Given the description of an element on the screen output the (x, y) to click on. 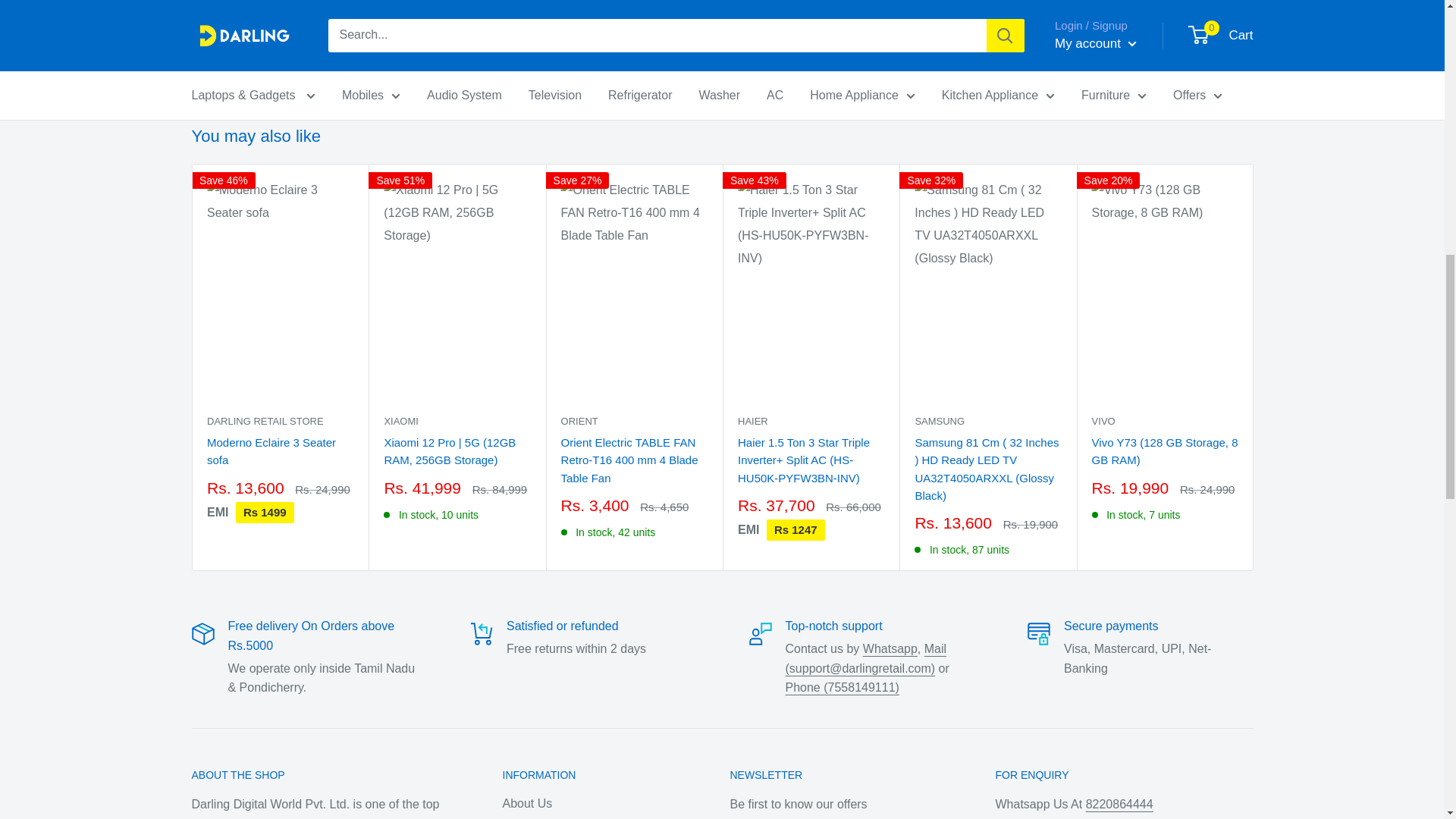
Whatsapp (1119, 803)
Whatsapp (890, 648)
